Given the description of an element on the screen output the (x, y) to click on. 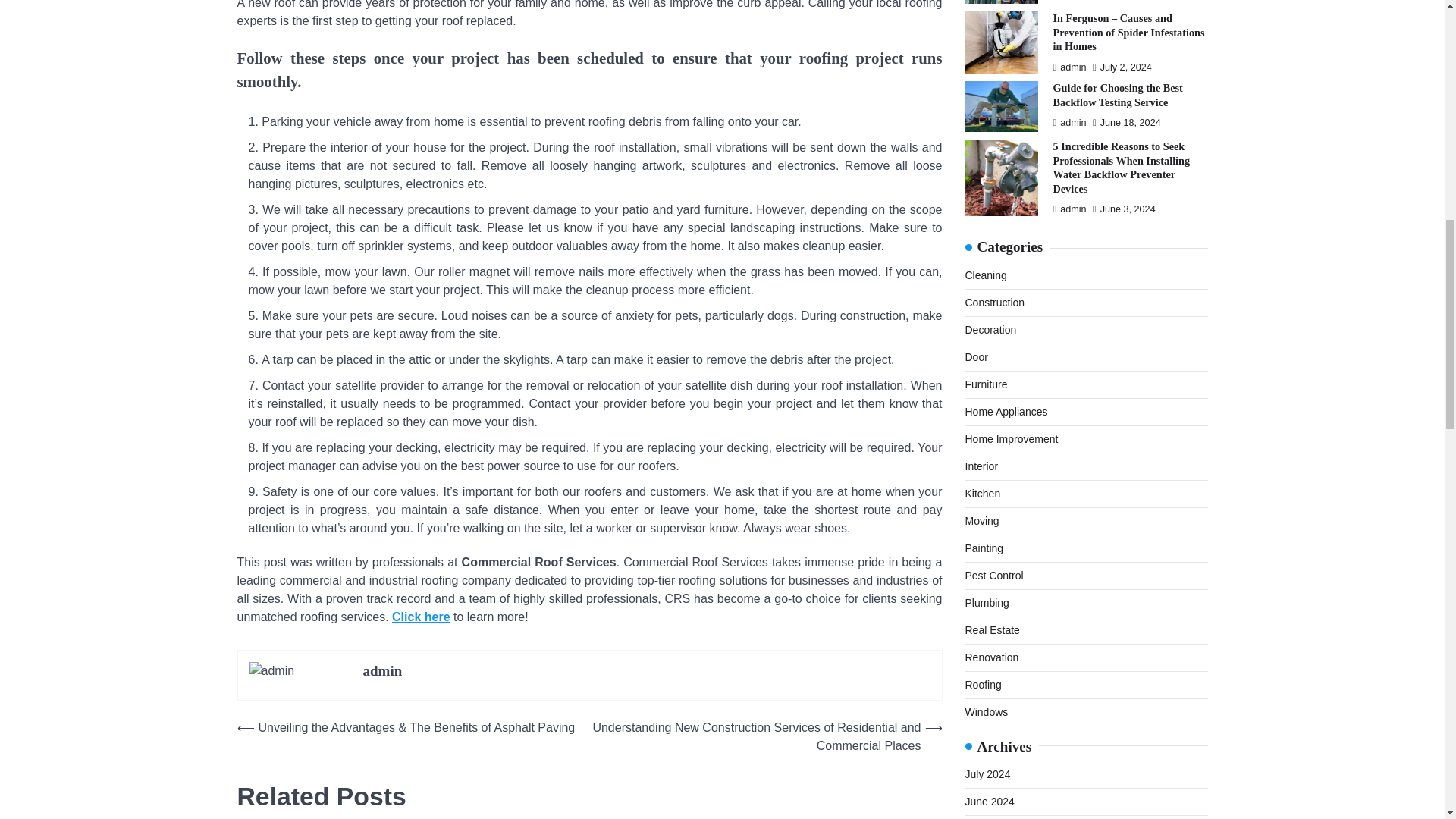
Click here (420, 616)
